Given the description of an element on the screen output the (x, y) to click on. 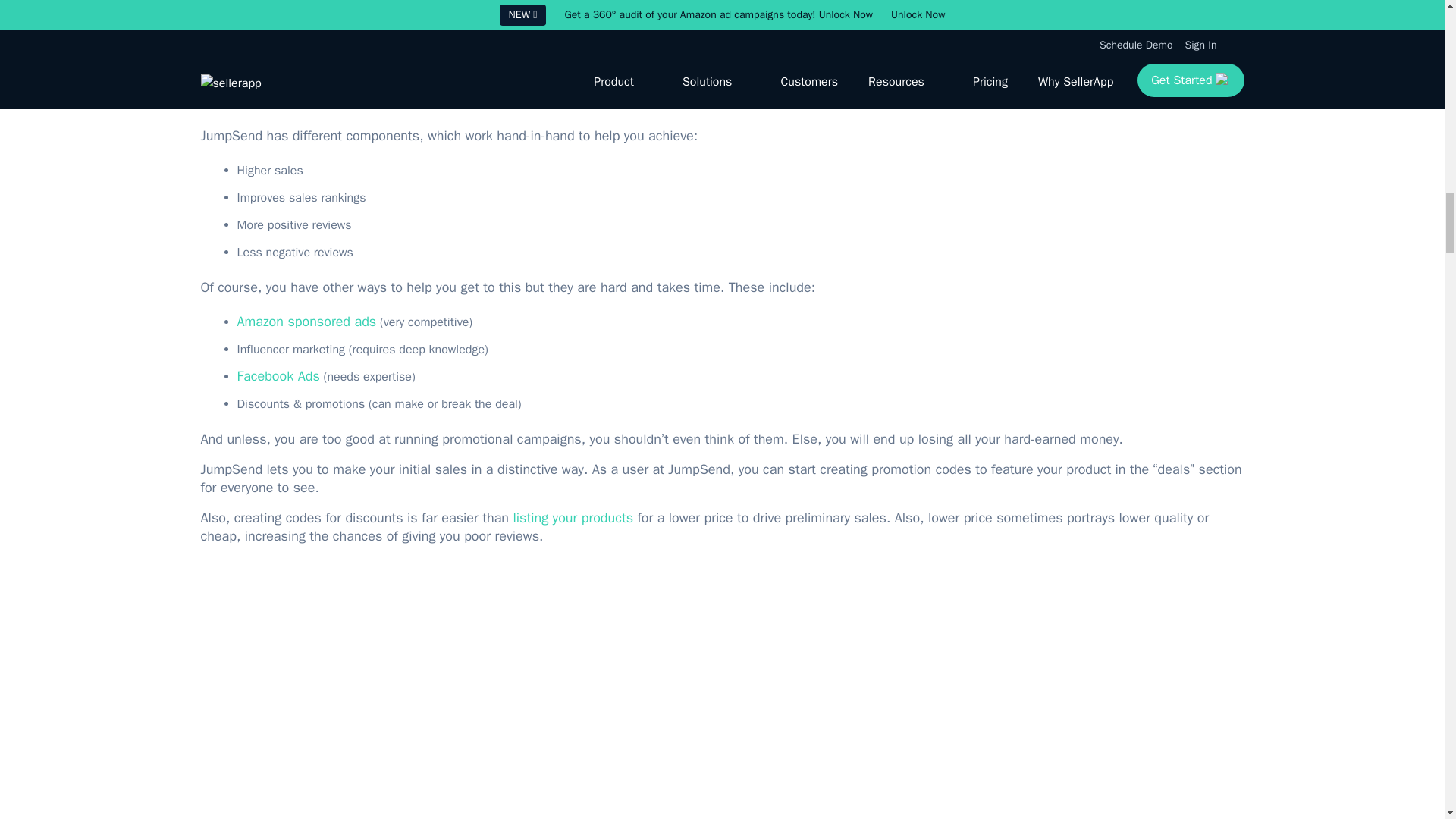
Amazon sponsored ads (305, 321)
Facebook Ads (276, 375)
listing your products (572, 517)
